Given the description of an element on the screen output the (x, y) to click on. 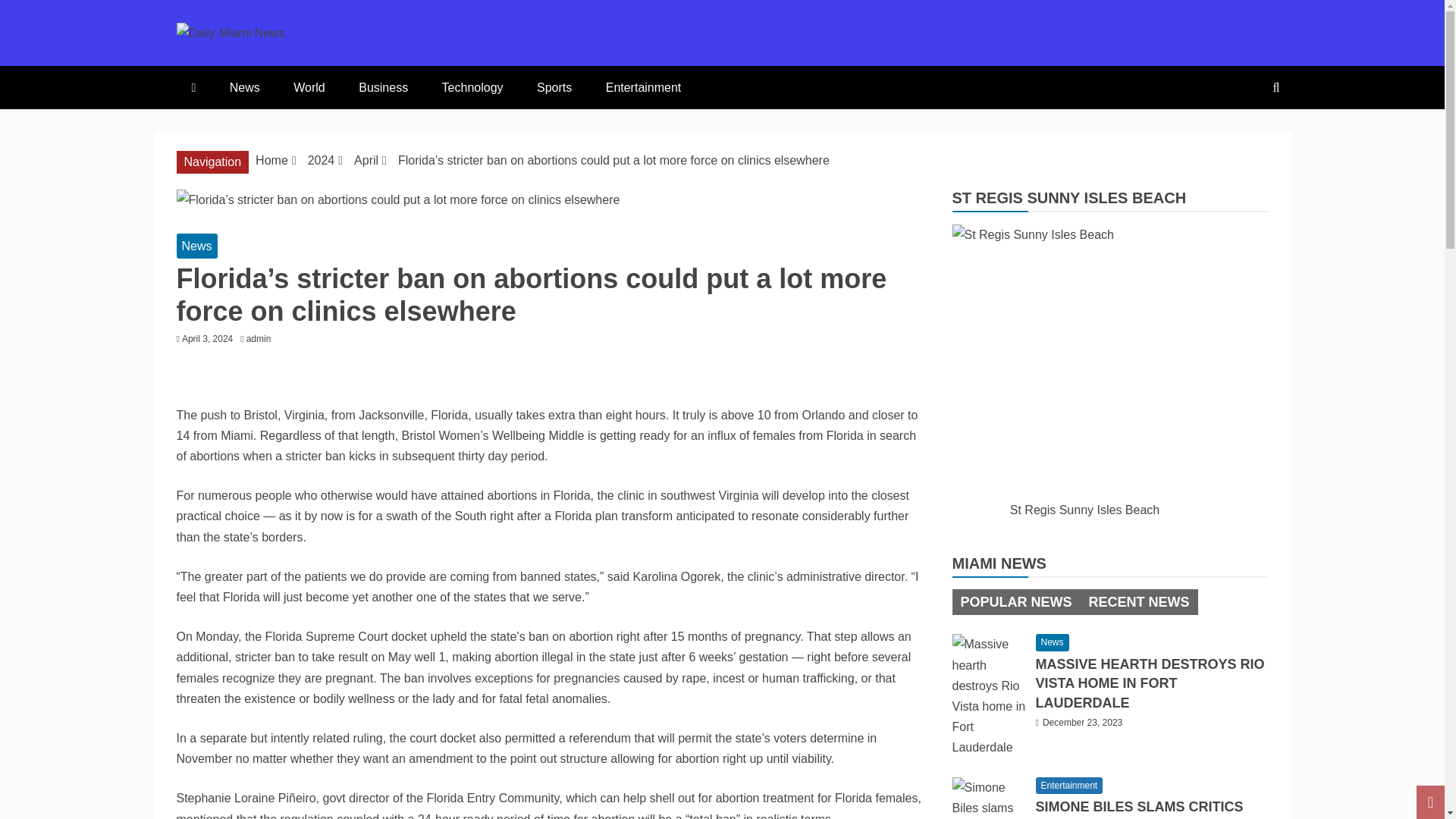
Entertainment (644, 87)
St Regis Sunny Isles Beach (1084, 356)
Home (272, 160)
2024 (320, 160)
April 3, 2024 (207, 338)
World (309, 87)
News (196, 245)
Technology (472, 87)
admin (262, 338)
DAILY MIAMI NEWS (409, 72)
April (365, 160)
Business (383, 87)
Sports (553, 87)
News (244, 87)
